Given the description of an element on the screen output the (x, y) to click on. 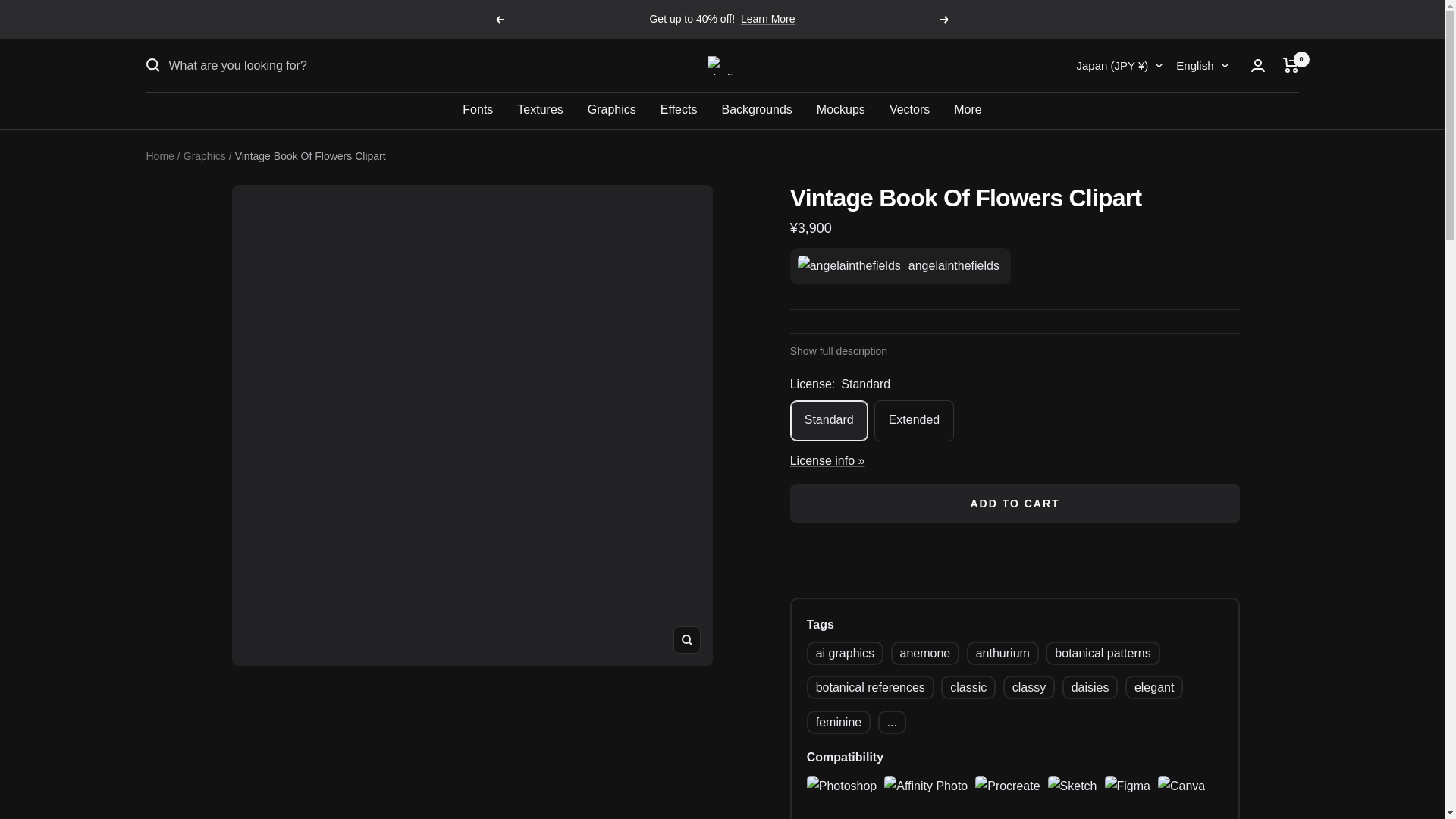
License (827, 460)
Next (944, 19)
AR (1004, 329)
AO (1004, 250)
AX (1004, 145)
BM (1004, 724)
AM (1004, 355)
BD (1004, 566)
AI (1004, 277)
AW (1004, 382)
